Given the description of an element on the screen output the (x, y) to click on. 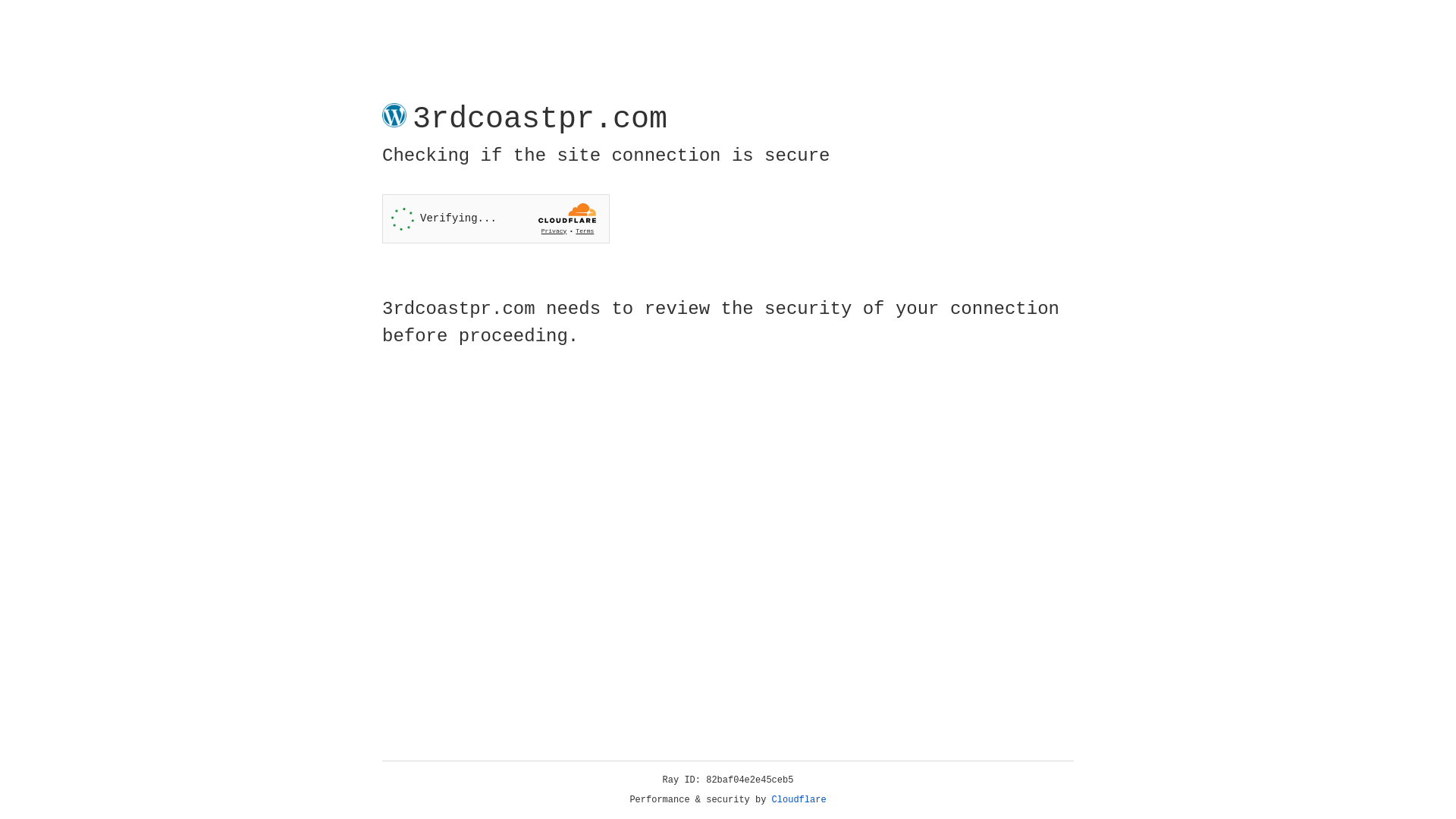
Cloudflare Element type: text (798, 799)
Widget containing a Cloudflare security challenge Element type: hover (495, 218)
